Given the description of an element on the screen output the (x, y) to click on. 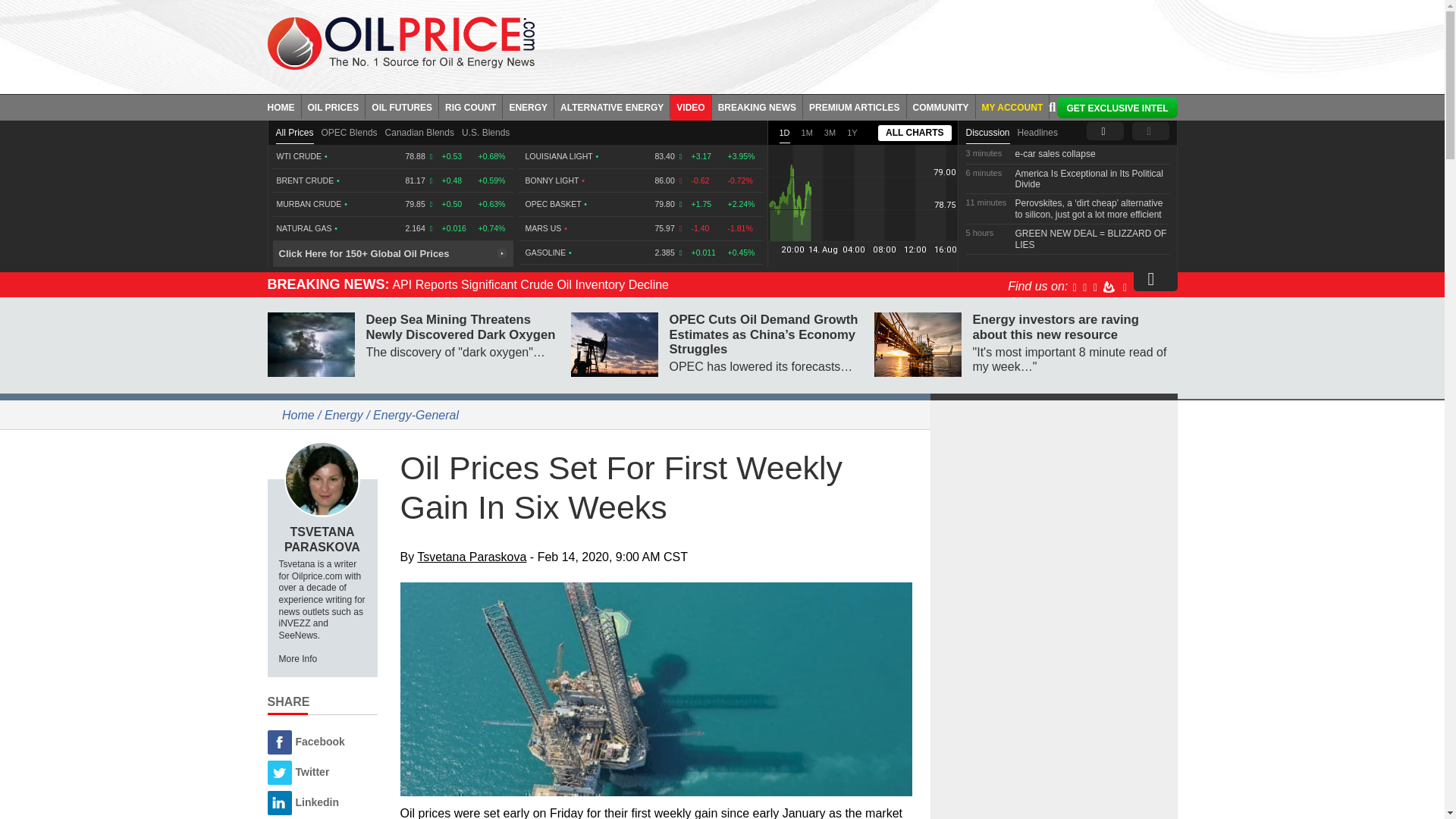
ENERGY (528, 106)
RIG COUNT (470, 106)
Deep Sea Mining Threatens Newly Discovered Dark Oxygen (309, 344)
oil field (656, 689)
PREMIUM ARTICLES (855, 106)
VIDEO (690, 106)
BREAKING NEWS (757, 106)
ALTERNATIVE ENERGY (611, 106)
COMMUNITY (941, 106)
OIL FUTURES (402, 106)
